Given the description of an element on the screen output the (x, y) to click on. 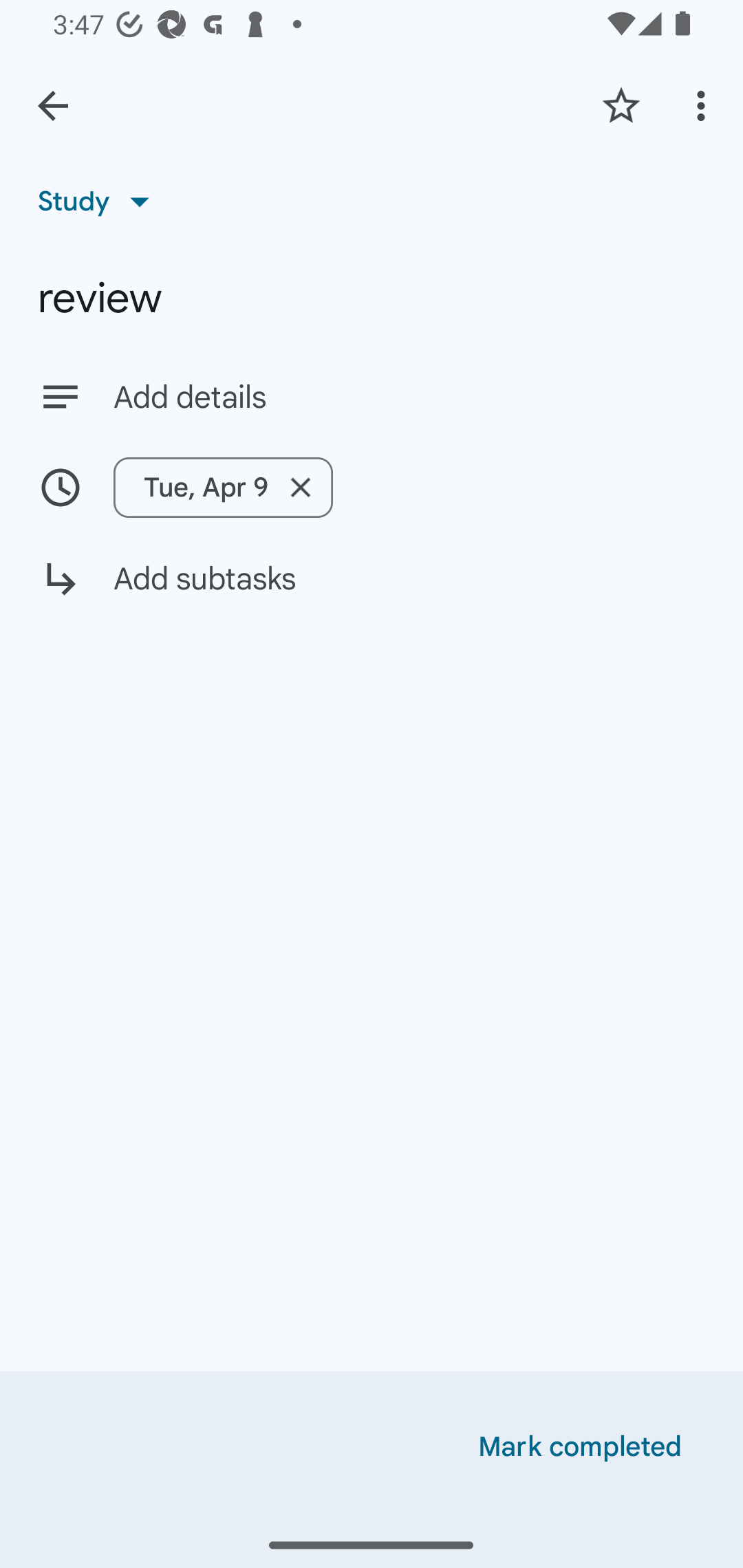
Back (53, 105)
Add star (620, 105)
More options (704, 105)
Study List, Study selected, 1 of 11 (99, 201)
review (371, 298)
Add details (371, 396)
Add details (409, 397)
Tue, Apr 9 Remove date/time (371, 487)
Tue, Apr 9 Remove date/time (222, 487)
Add subtasks (371, 593)
Mark completed (580, 1446)
